Given the description of an element on the screen output the (x, y) to click on. 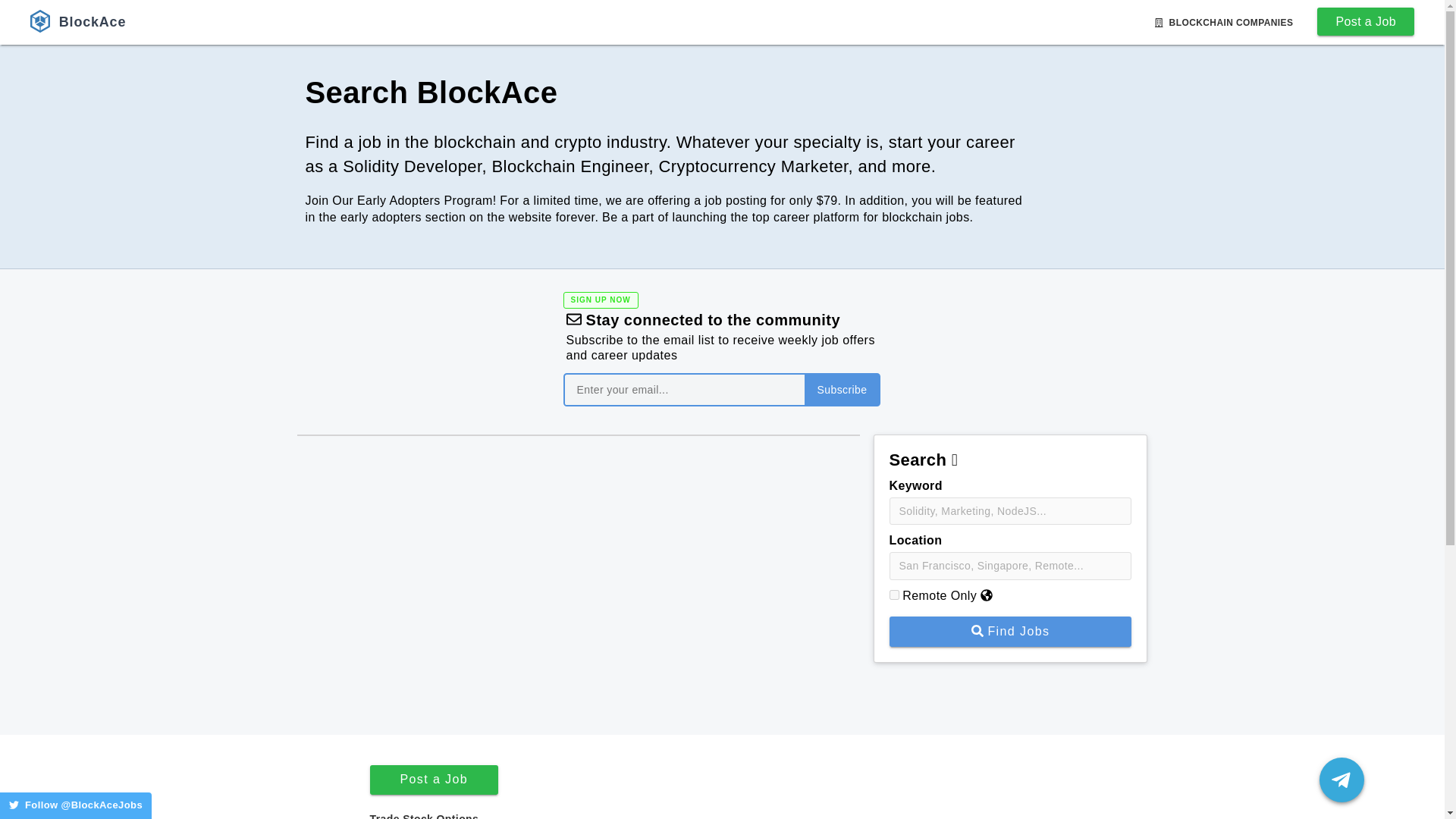
Post a Job (1358, 21)
Find Jobs (1009, 631)
Subscribe (841, 389)
on (893, 594)
BLOCKCHAIN COMPANIES (1223, 22)
Post a Job (434, 779)
Subscribe (841, 389)
